Given the description of an element on the screen output the (x, y) to click on. 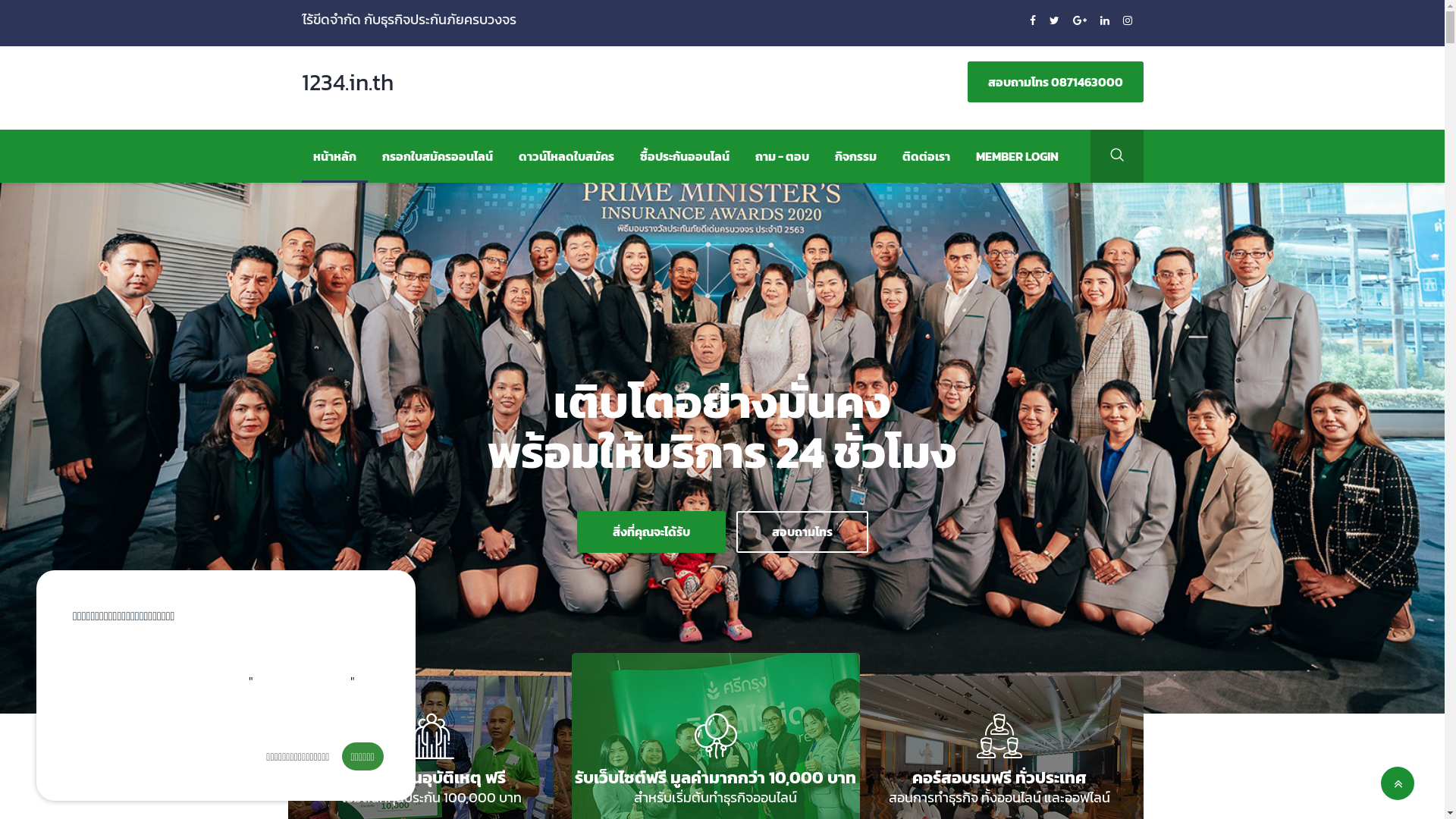
MEMBER LOGIN Element type: text (1017, 155)
Google+ Element type: hover (1080, 20)
Back to Top Element type: hover (1397, 783)
Linkdin Element type: hover (1104, 20)
Skype Element type: hover (1126, 20)
Facebook Element type: hover (1033, 20)
Twitter Element type: hover (1055, 20)
1234.in.th Element type: text (362, 87)
